Given the description of an element on the screen output the (x, y) to click on. 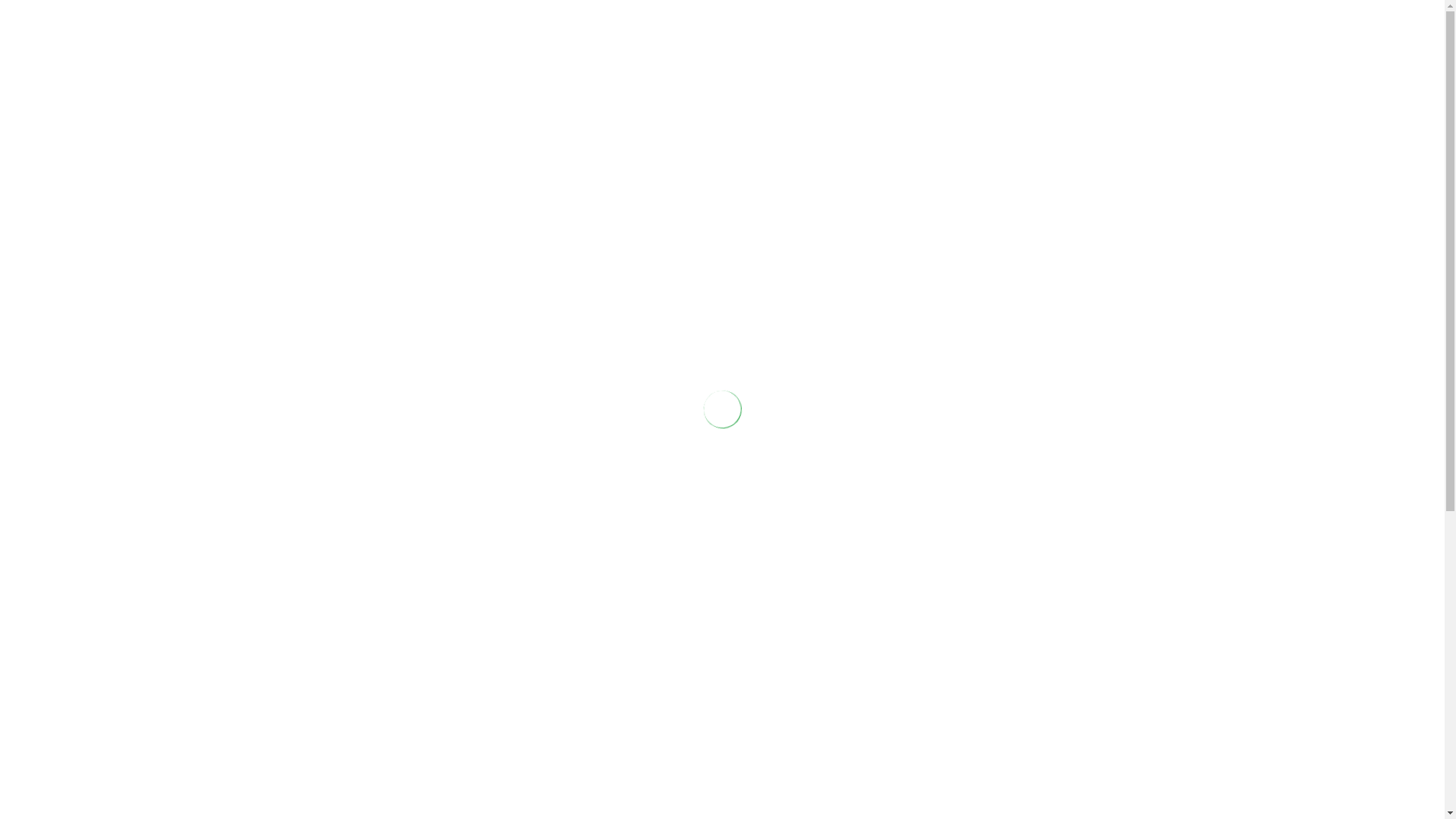
Accueil Element type: text (701, 66)
026 652 09 70 Element type: text (924, 13)
Contact Element type: text (1019, 66)
Fiche technique Element type: text (406, 354)
Shop Online Element type: text (934, 66)
benoit.grandjean@bgbureautique.ch Element type: text (1061, 13)
Support Element type: text (1099, 66)
